Given the description of an element on the screen output the (x, y) to click on. 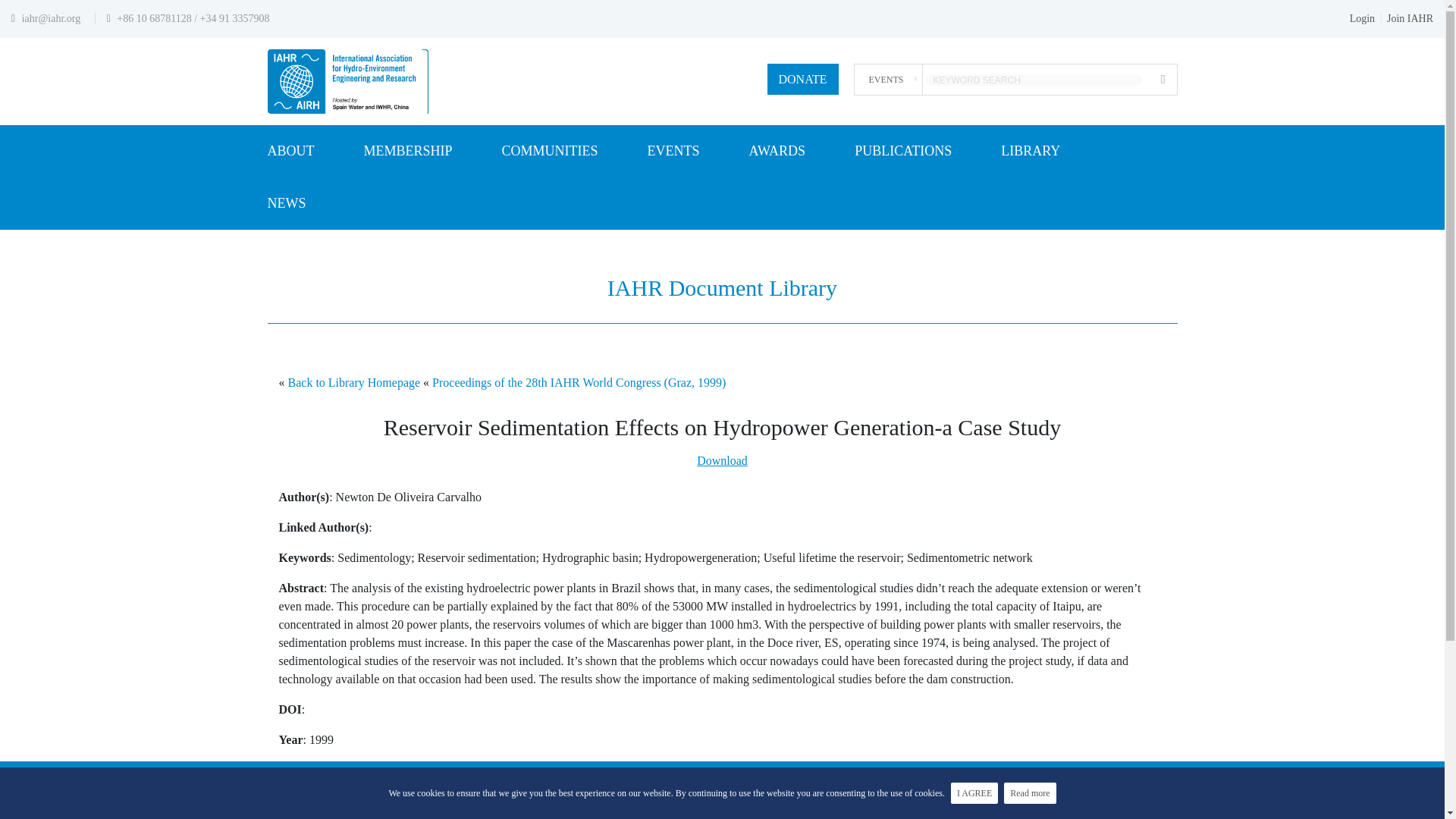
DONATE (802, 79)
Login (1361, 18)
EVENTS (673, 151)
ABOUT (290, 151)
AWARDS (777, 151)
COMMUNITIES (550, 151)
Join IAHR (1409, 18)
PUBLICATIONS (903, 151)
MEMBERSHIP (408, 151)
